Given the description of an element on the screen output the (x, y) to click on. 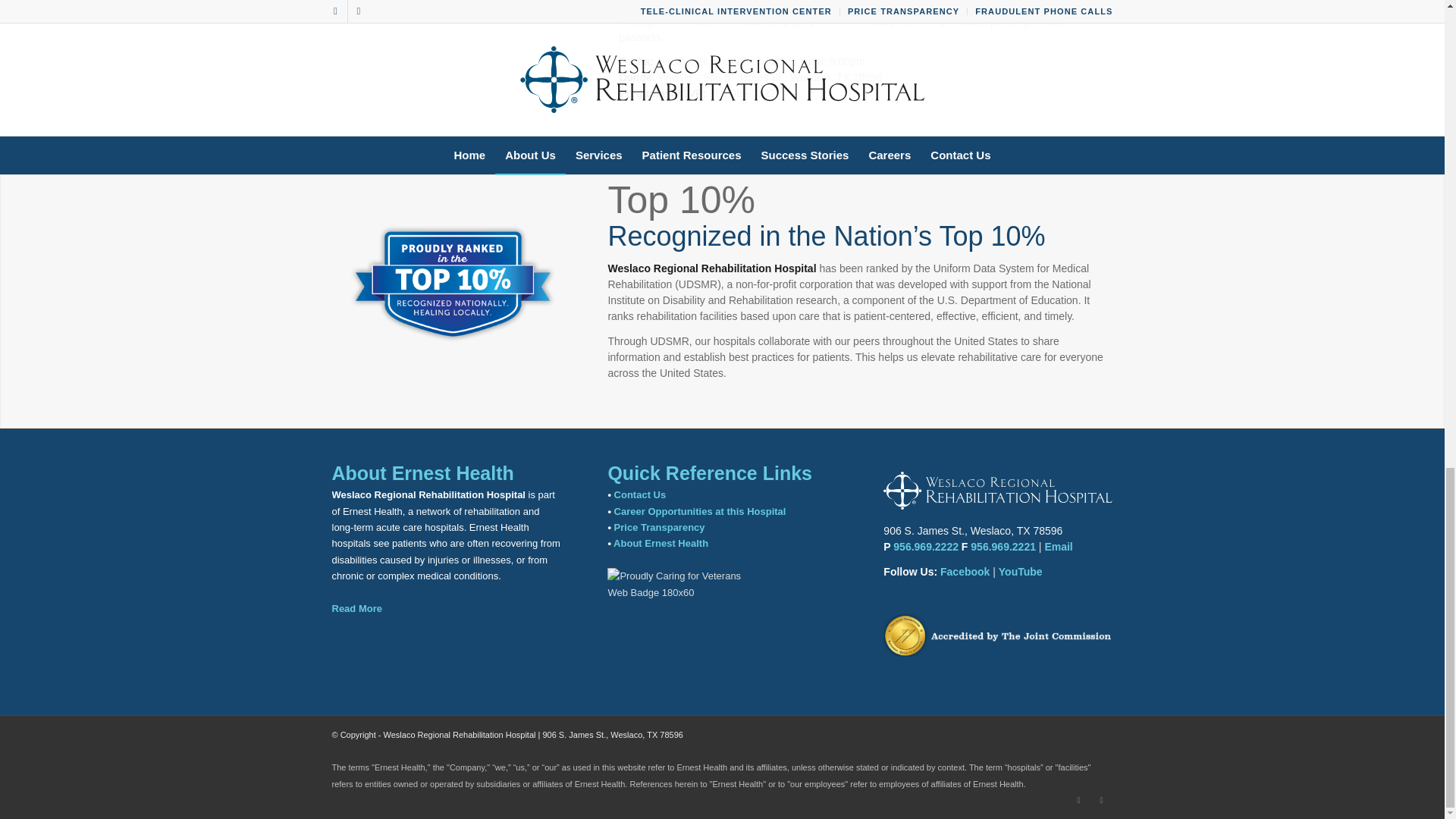
Facebook (1078, 799)
Page 1 (859, 51)
Page 1 (859, 51)
Page 1 (859, 77)
Youtube (1101, 799)
